Given the description of an element on the screen output the (x, y) to click on. 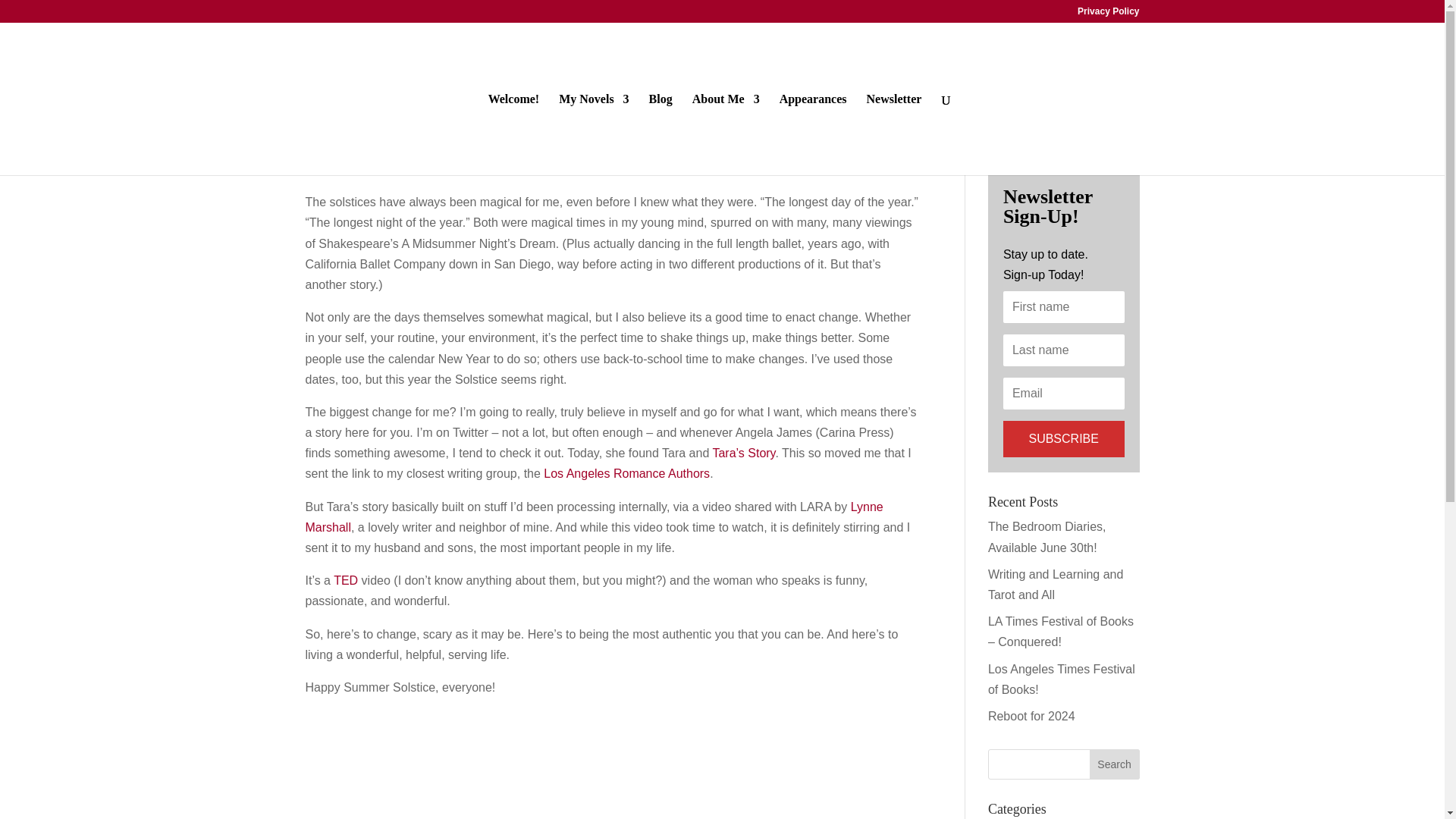
Summer Solstice, 2011 (395, 137)
Los Angeles Romance Authors (626, 472)
The Bedroom Diaries, Available June 30th! (1047, 536)
Privacy Policy (1107, 14)
Life (399, 165)
Writing and Learning and Tarot and All (1056, 584)
TED (345, 580)
Search (1114, 764)
Posts by Christine (350, 165)
Search (1114, 764)
Reboot for 2024 (1031, 716)
SUBSCRIBE (1063, 438)
SUBSCRIBE (1063, 438)
Los Angeles Times Festival of Books! (1061, 679)
Observations (457, 165)
